Given the description of an element on the screen output the (x, y) to click on. 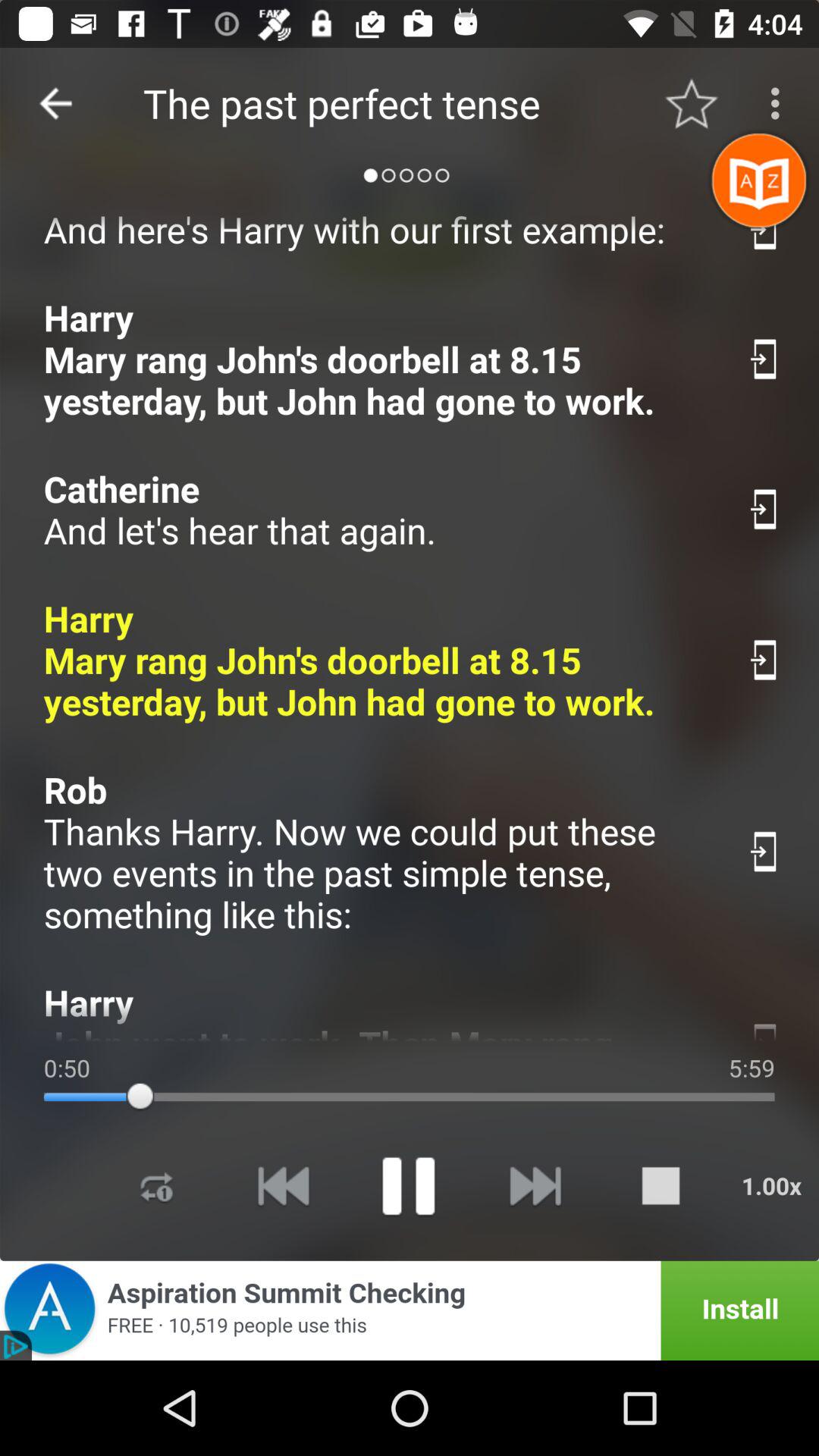
it advances to the next audio track (534, 1185)
